Given the description of an element on the screen output the (x, y) to click on. 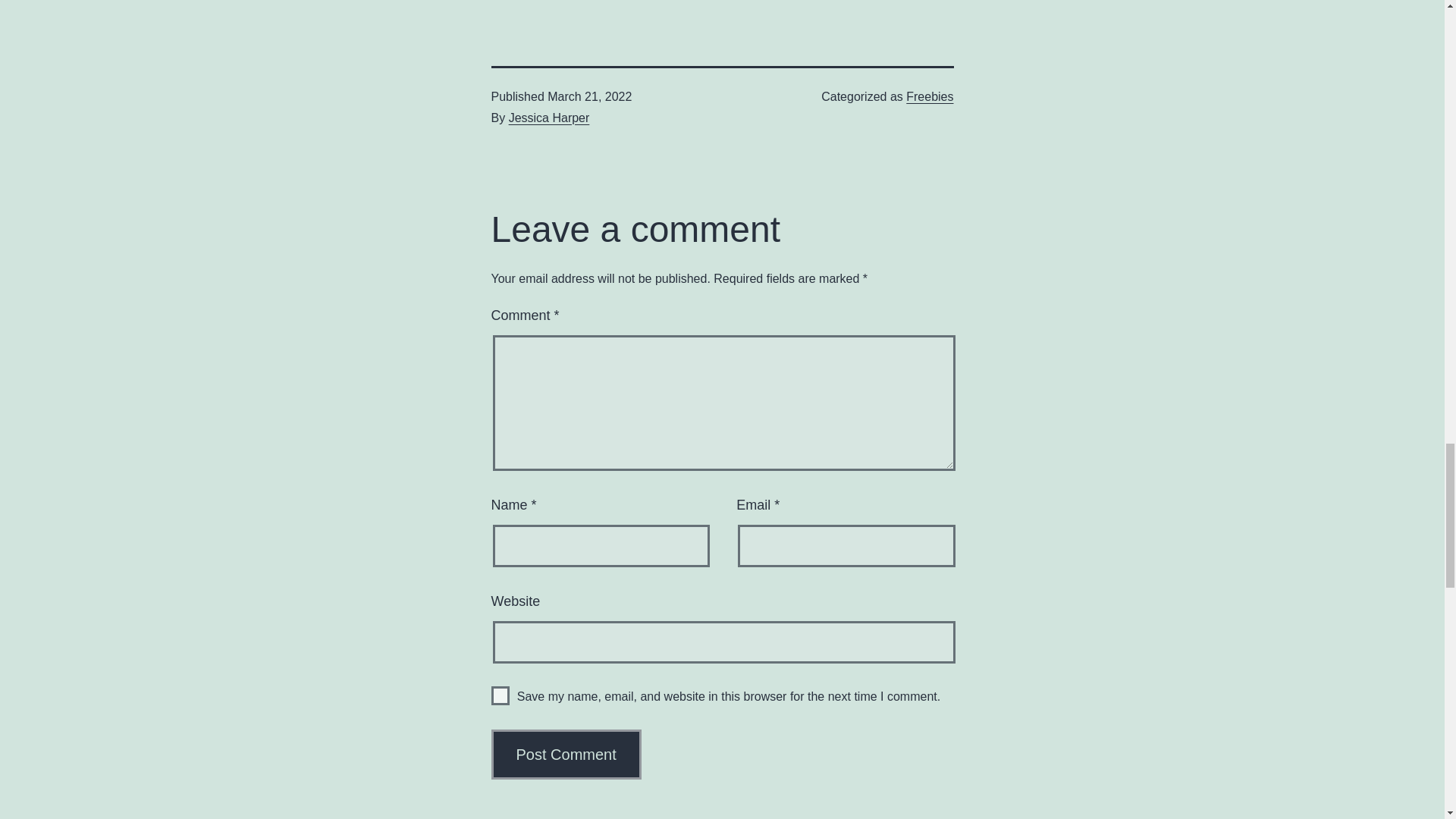
Post Comment (567, 754)
yes (500, 695)
Jessica Harper (548, 117)
Freebies (929, 96)
Post Comment (567, 754)
